Given the description of an element on the screen output the (x, y) to click on. 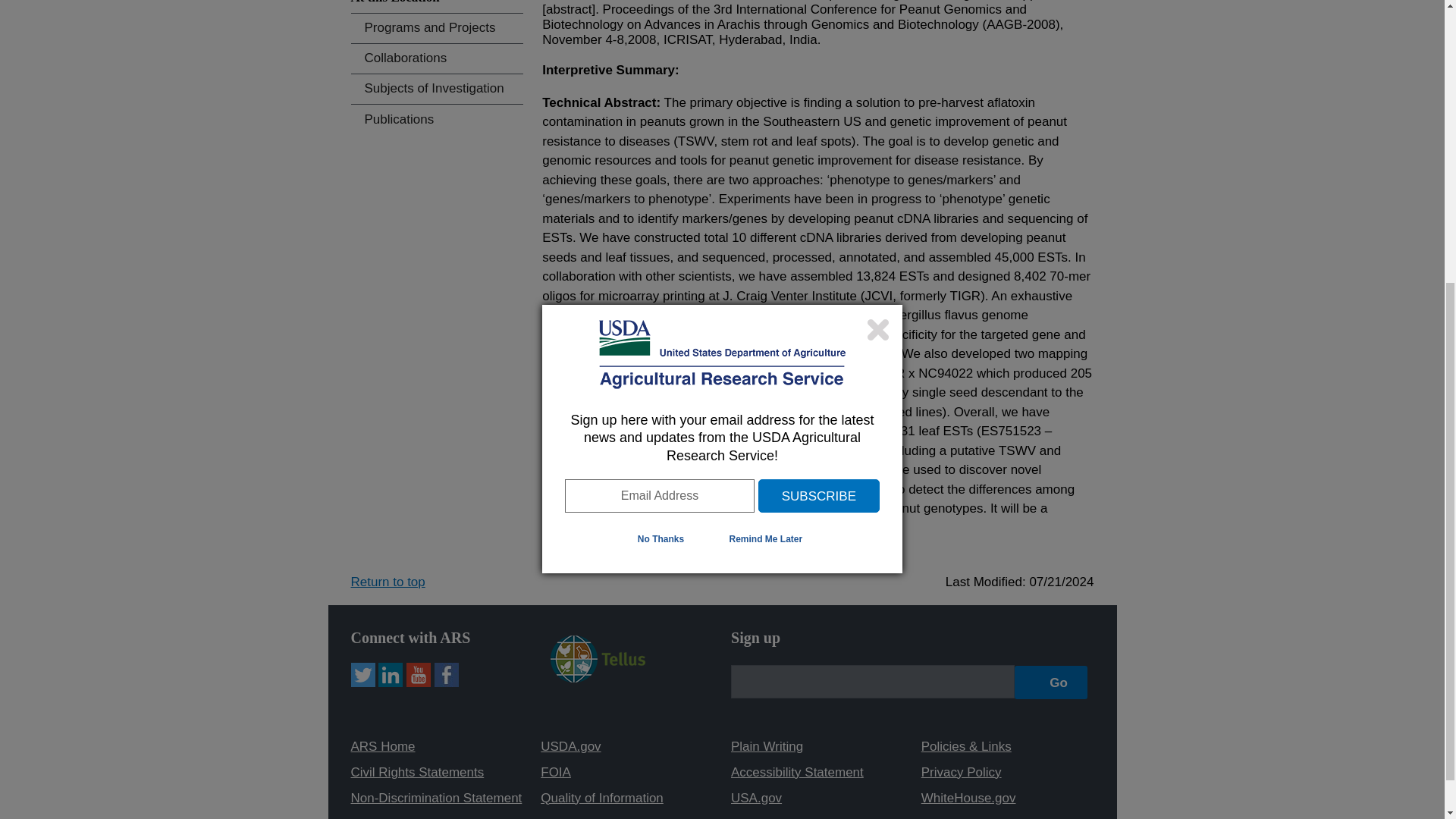
Collaborations (436, 58)
Youtube (418, 674)
Facebook Icon (445, 674)
Twitter (362, 674)
Programs and Projects (436, 28)
LinkedIn (390, 674)
Email Address (659, 49)
Tellus (597, 658)
Subjects of Investigation (436, 89)
Go (1050, 682)
Tellus (597, 677)
Subscribe (818, 49)
Publications (436, 119)
email (872, 681)
